Given the description of an element on the screen output the (x, y) to click on. 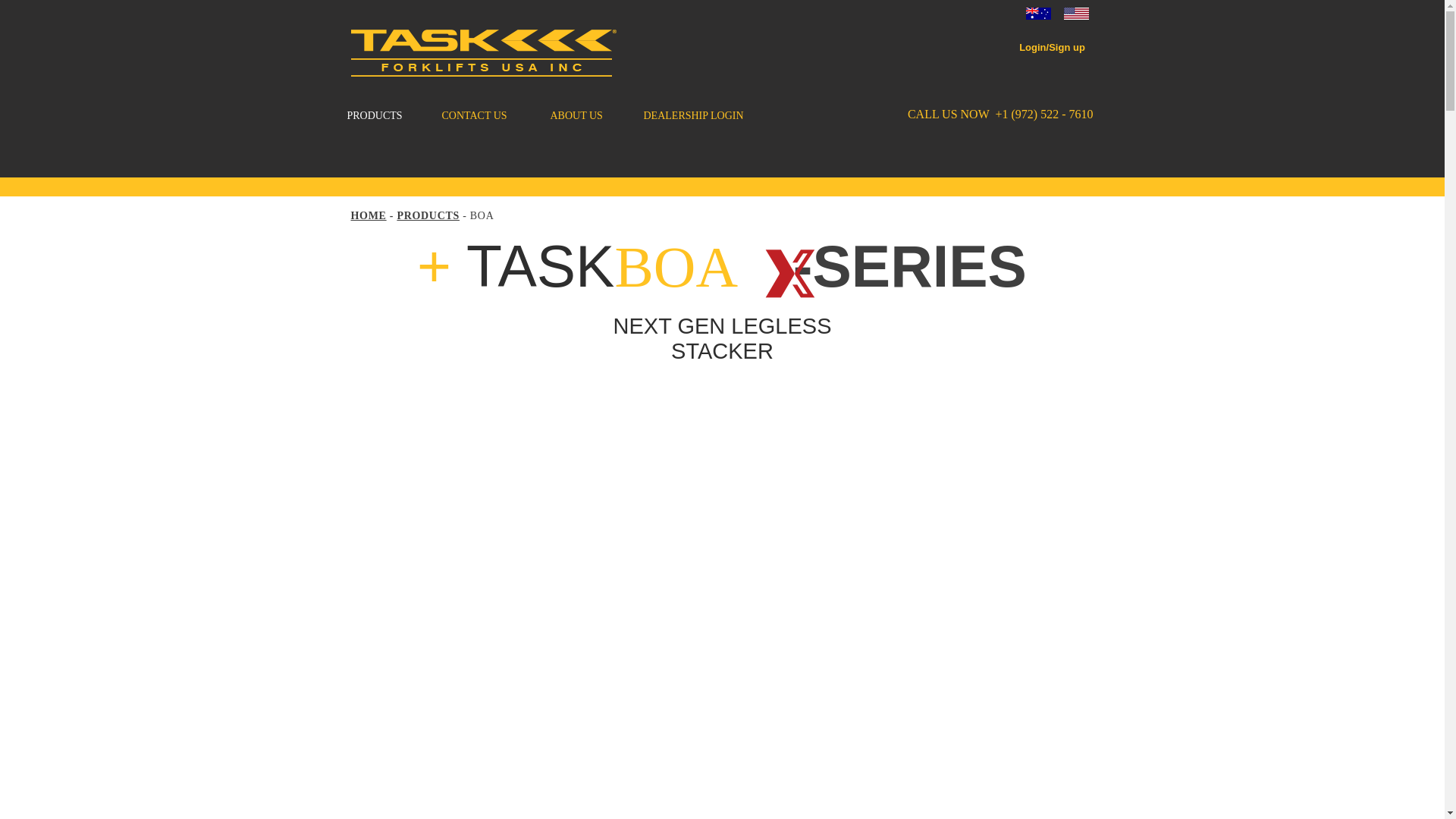
TASK Forklifts USA (1074, 13)
PRODUCTS (381, 115)
DEALERSHIP LOGIN (697, 115)
TASK Forklifts Australia (1037, 13)
HOME (367, 215)
PRODUCTS (428, 215)
ABOUT US (584, 115)
CONTACT US (484, 115)
TASK Forklifts USA (482, 53)
